Given the description of an element on the screen output the (x, y) to click on. 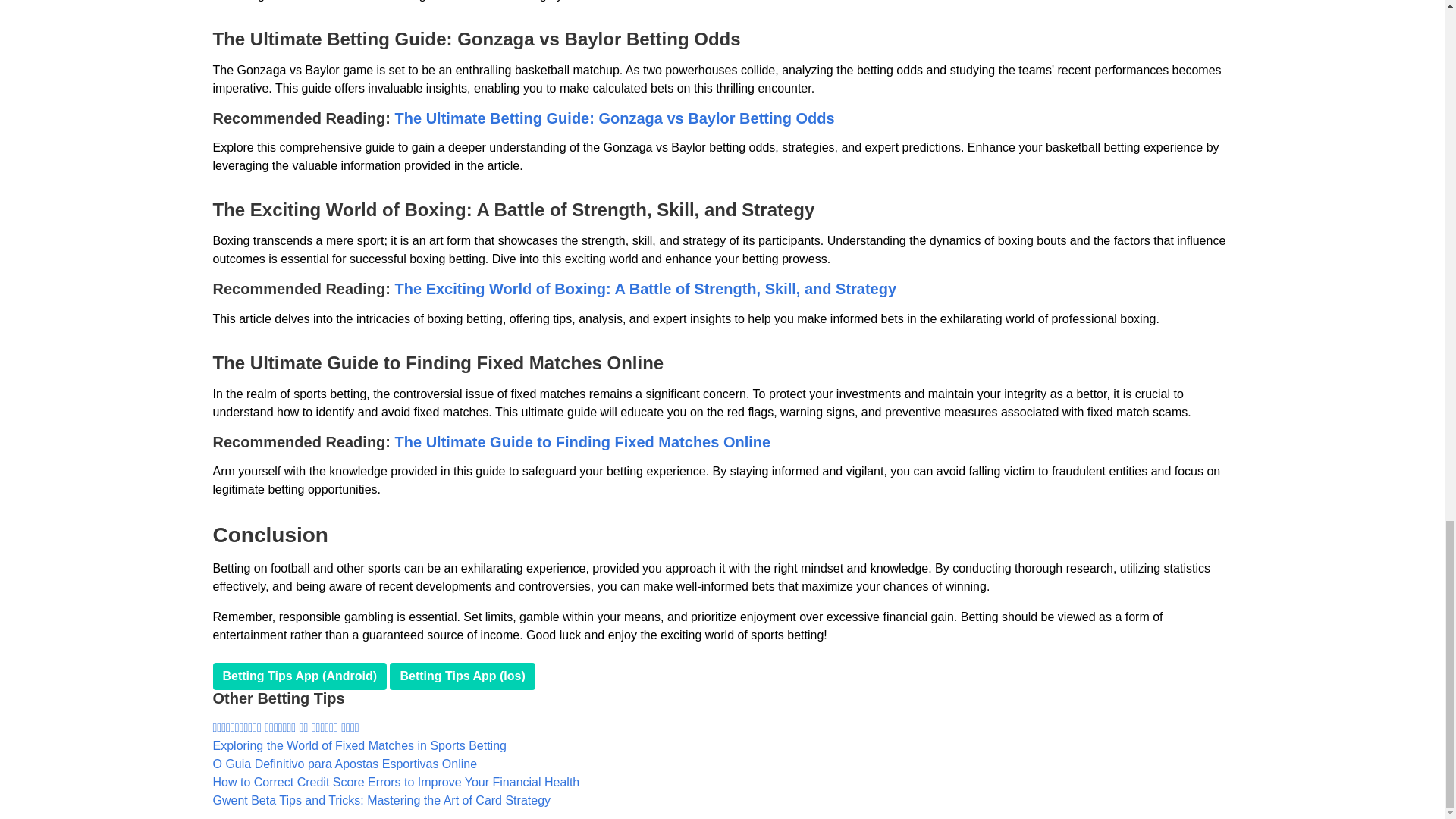
Exploring the World of Fixed Matches in Sports Betting (358, 745)
The Ultimate Betting Guide: Gonzaga vs Baylor Betting Odds (614, 117)
play (299, 676)
The Ultimate Guide to Finding Fixed Matches Online (582, 442)
O Guia Definitivo para Apostas Esportivas Online (344, 763)
O Guia Definitivo para Apostas Esportivas Online (344, 763)
play (462, 676)
Exploring the World of Fixed Matches in Sports Betting (358, 745)
